Given the description of an element on the screen output the (x, y) to click on. 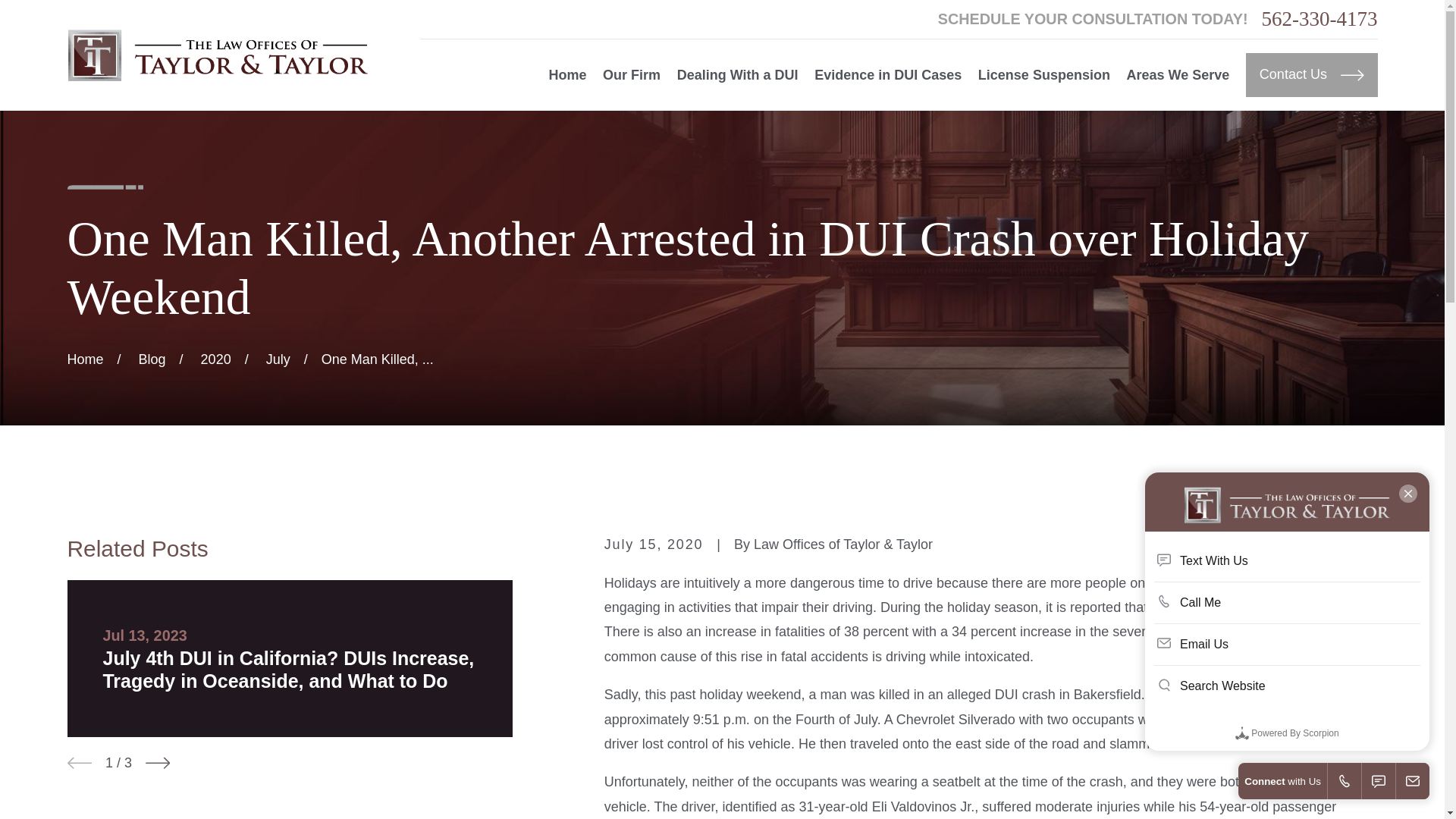
Our Firm (631, 75)
562-330-4173 (1319, 19)
Evidence in DUI Cases (886, 75)
View next item (157, 762)
Dealing With a DUI (737, 75)
View previous item (78, 762)
Home (217, 55)
Go Home (84, 359)
